Given the description of an element on the screen output the (x, y) to click on. 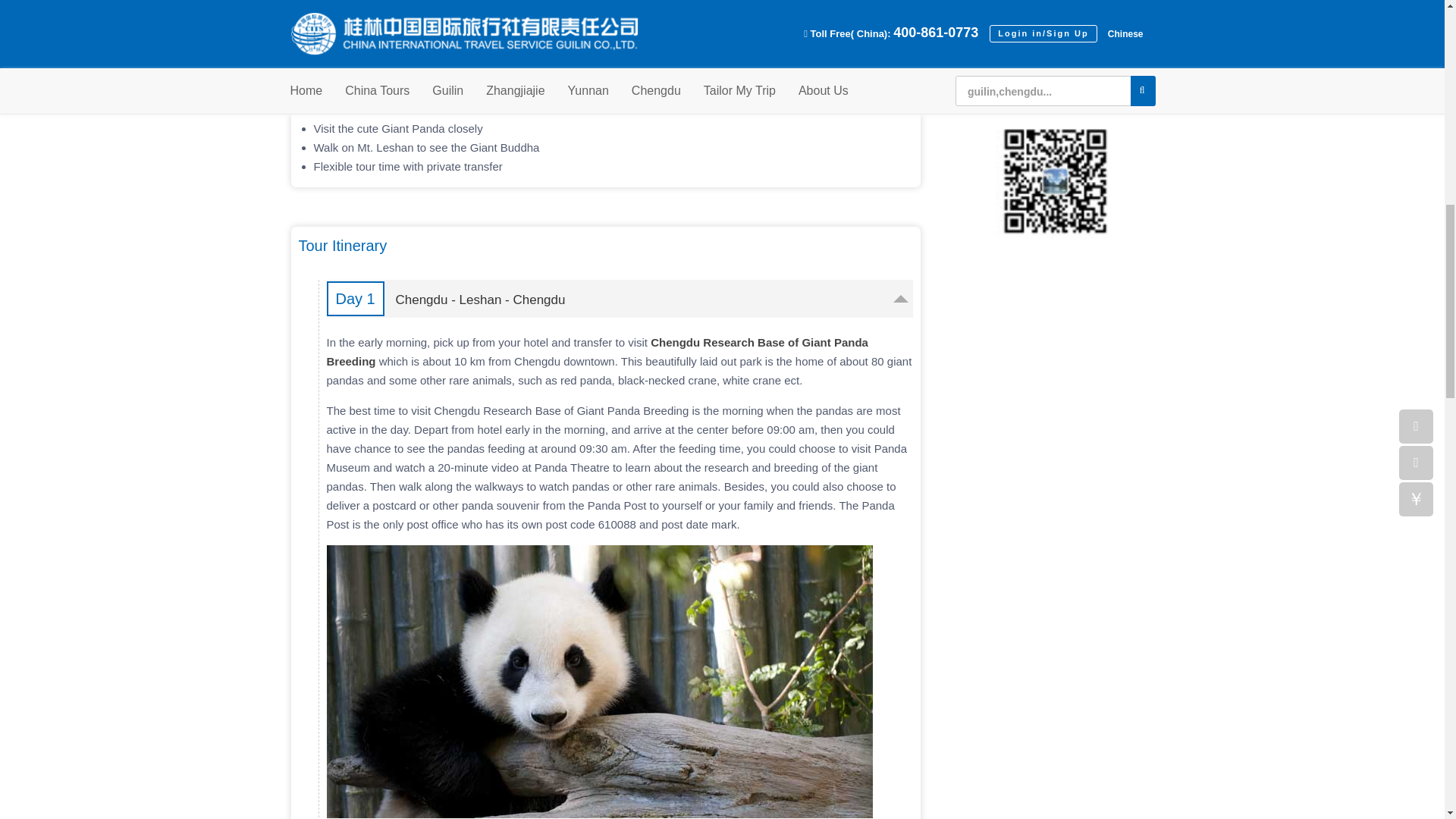
Chengdu Research Base of Giant Panda Breeding (596, 351)
Day 1 Chengdu - Leshan - Chengdu (619, 298)
